Given the description of an element on the screen output the (x, y) to click on. 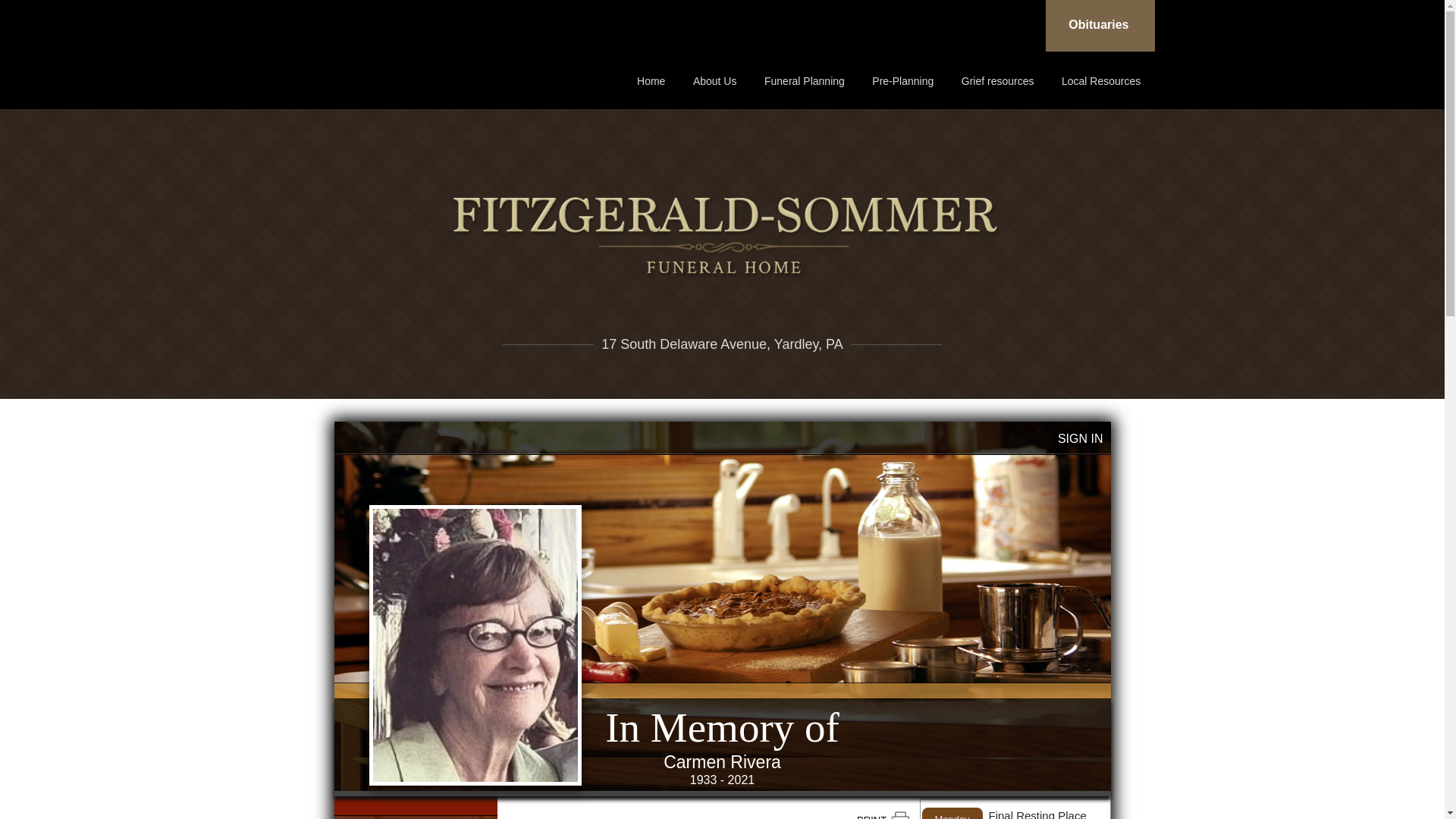
About Us (714, 79)
Home (651, 79)
Obituary (414, 817)
Local Resources (1100, 79)
SIGN IN (1080, 438)
Funeral Planning (804, 79)
Grief resources (997, 79)
Print (882, 815)
Obituaries (1099, 25)
Pre-Planning (902, 79)
